Given the description of an element on the screen output the (x, y) to click on. 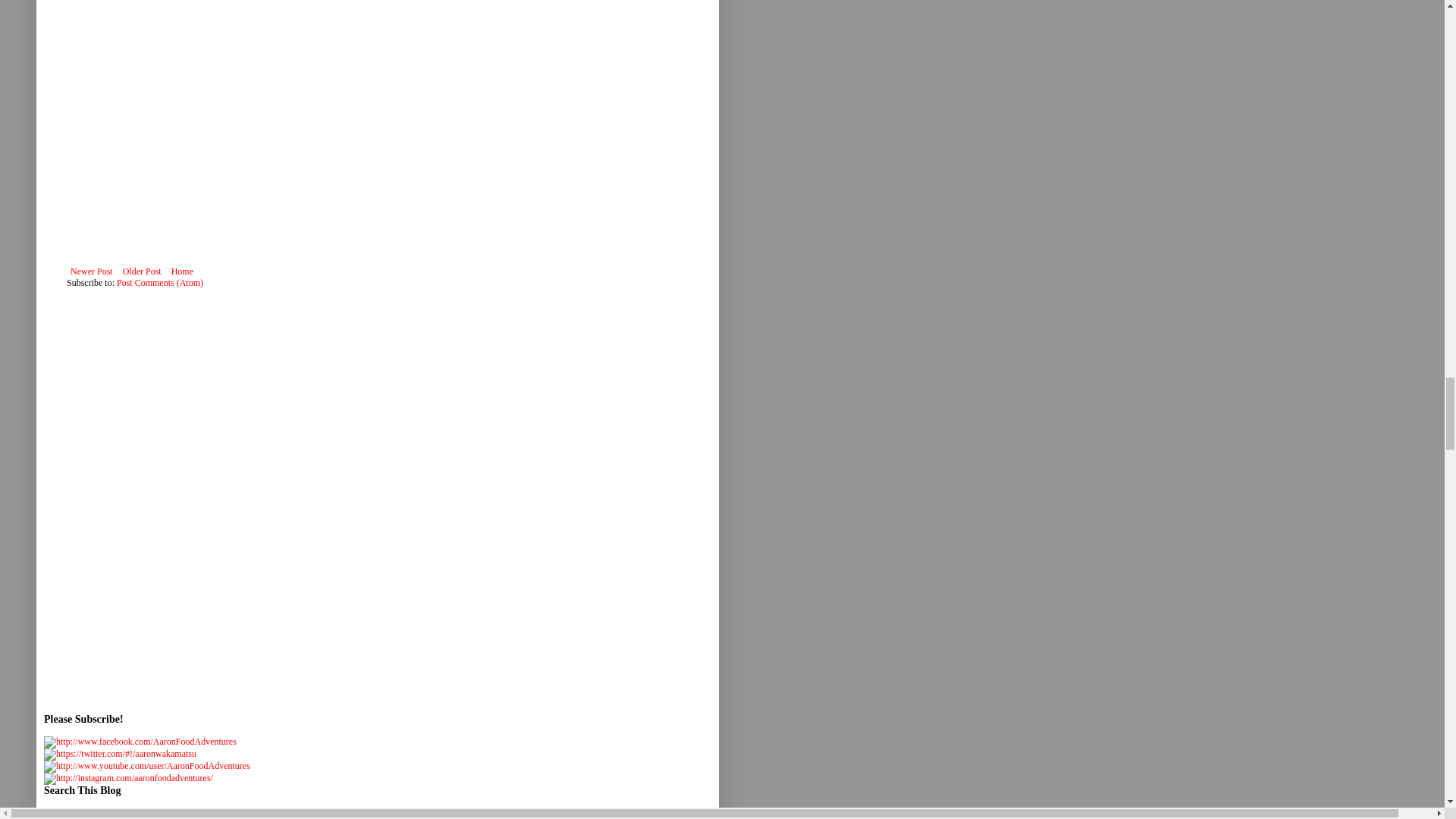
Follow me on Instagram! (127, 777)
Become a fan of my Facebook page! (139, 741)
Search (139, 812)
Older Post (142, 271)
Newer Post (91, 271)
Follow me on Twitter! (119, 753)
Newer Post (91, 271)
Search (139, 812)
Please subscribe to my YouTube channel! (146, 766)
